Given the description of an element on the screen output the (x, y) to click on. 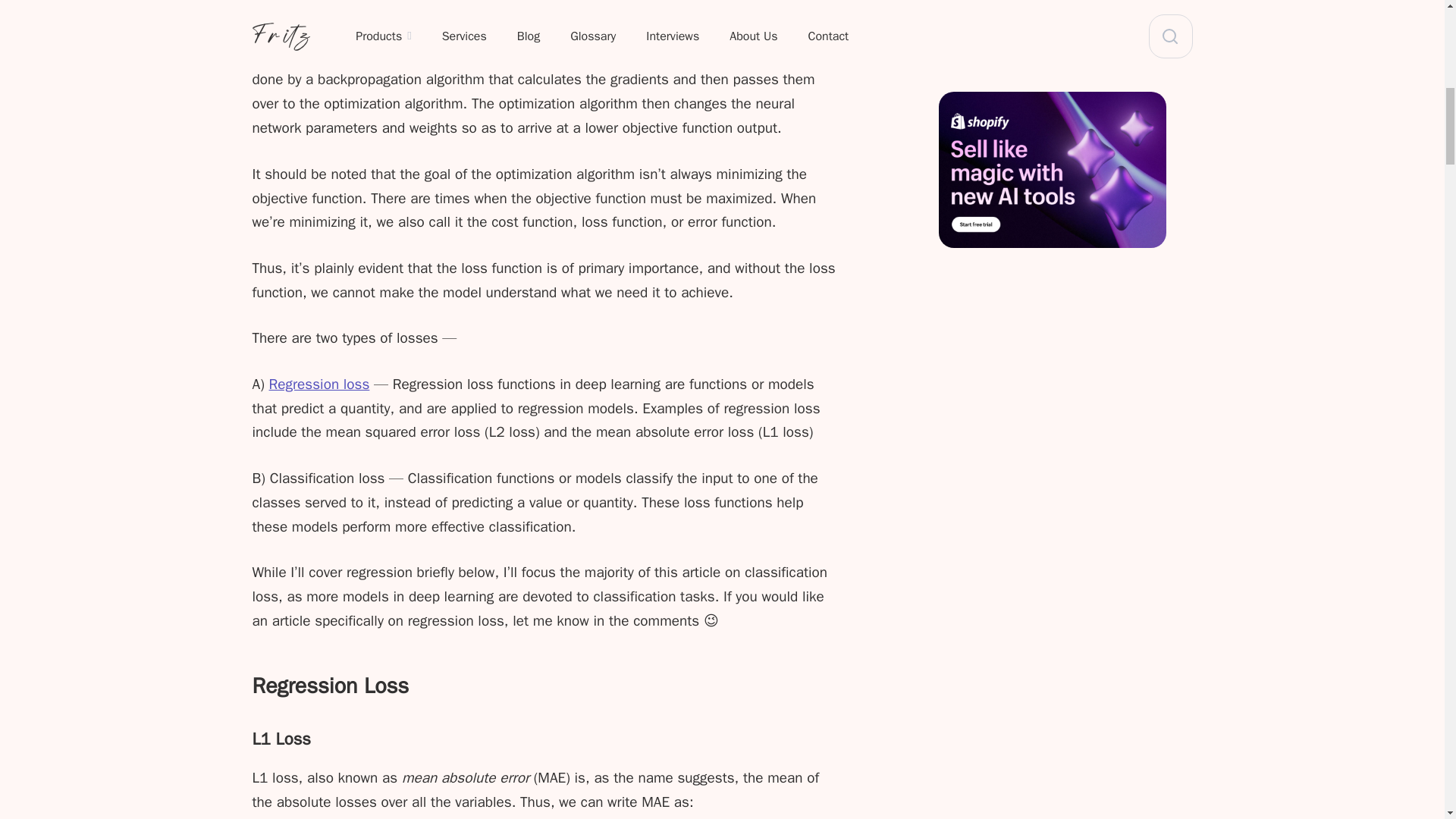
Regression loss (319, 384)
